Given the description of an element on the screen output the (x, y) to click on. 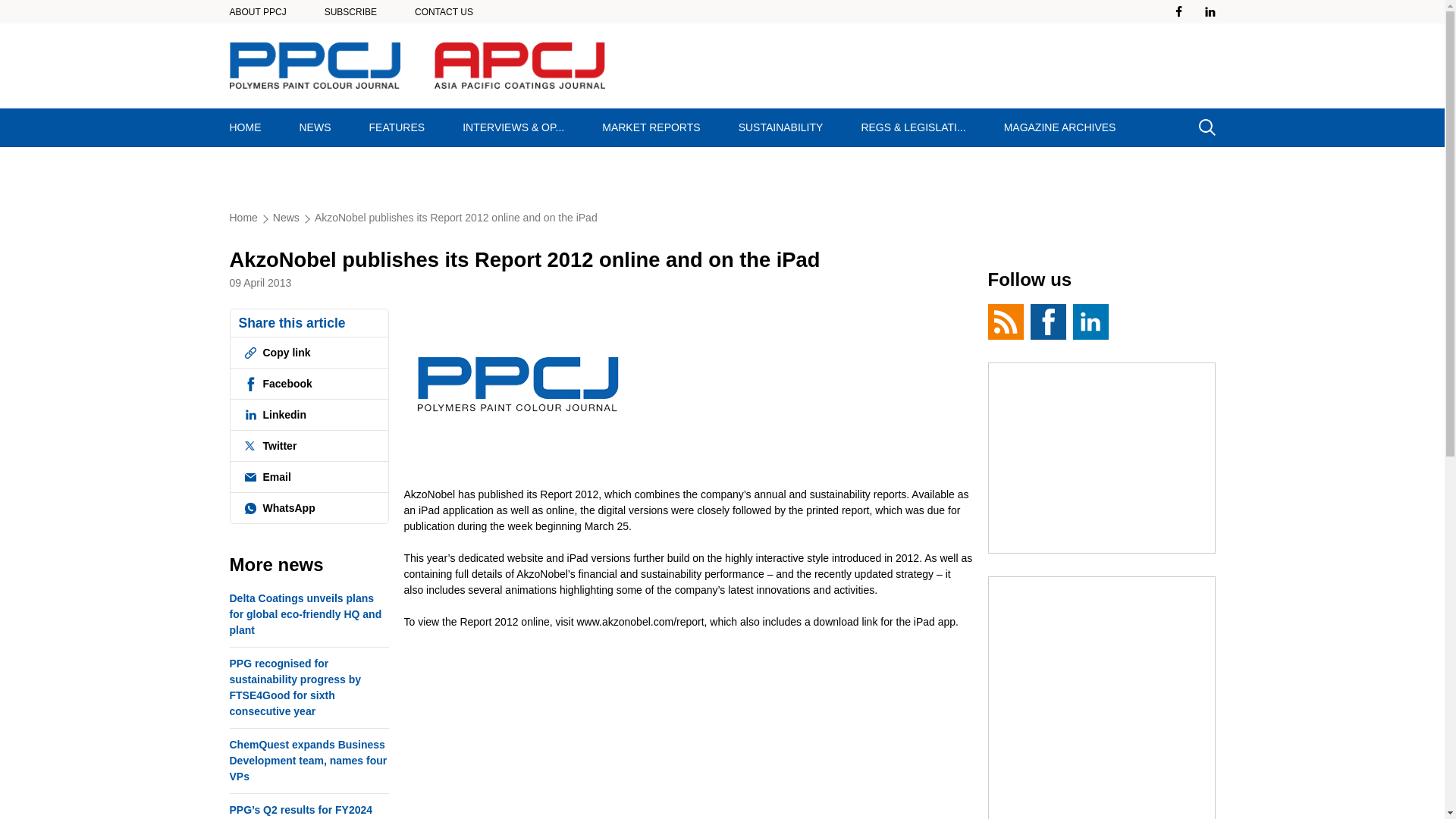
HOME (246, 127)
Go to Polymers Paint Colour Journal. (250, 217)
Facebook (308, 383)
3rd party ad content (1101, 457)
News (293, 217)
Linkedin (308, 414)
MARKET REPORTS (651, 127)
WhatsApp (308, 508)
3rd party ad content (1101, 698)
Home (250, 217)
FEATURES (397, 127)
MAGAZINE ARCHIVES (1060, 127)
NEWS (315, 127)
